Given the description of an element on the screen output the (x, y) to click on. 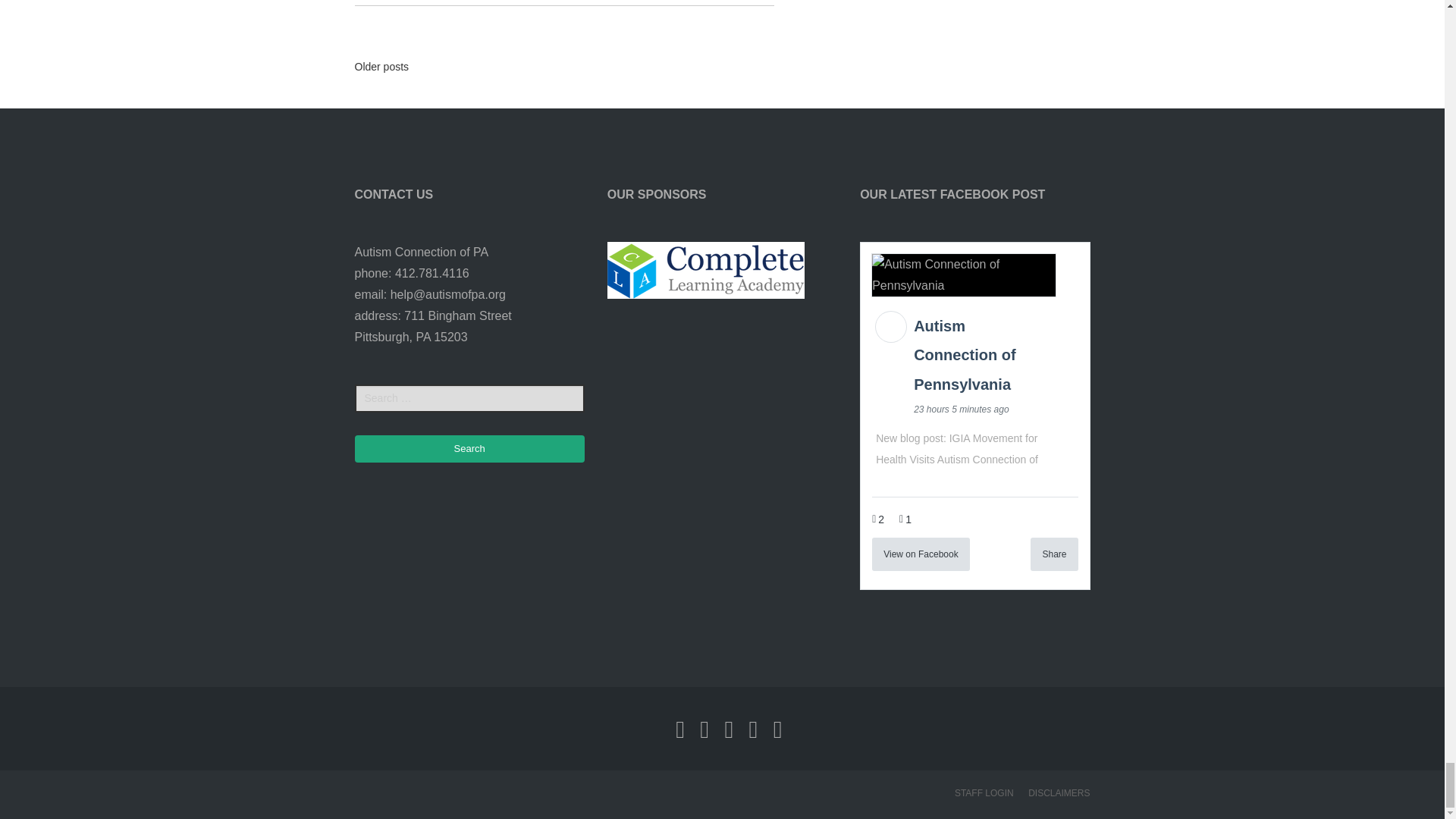
Search (470, 448)
Search (470, 448)
